Given the description of an element on the screen output the (x, y) to click on. 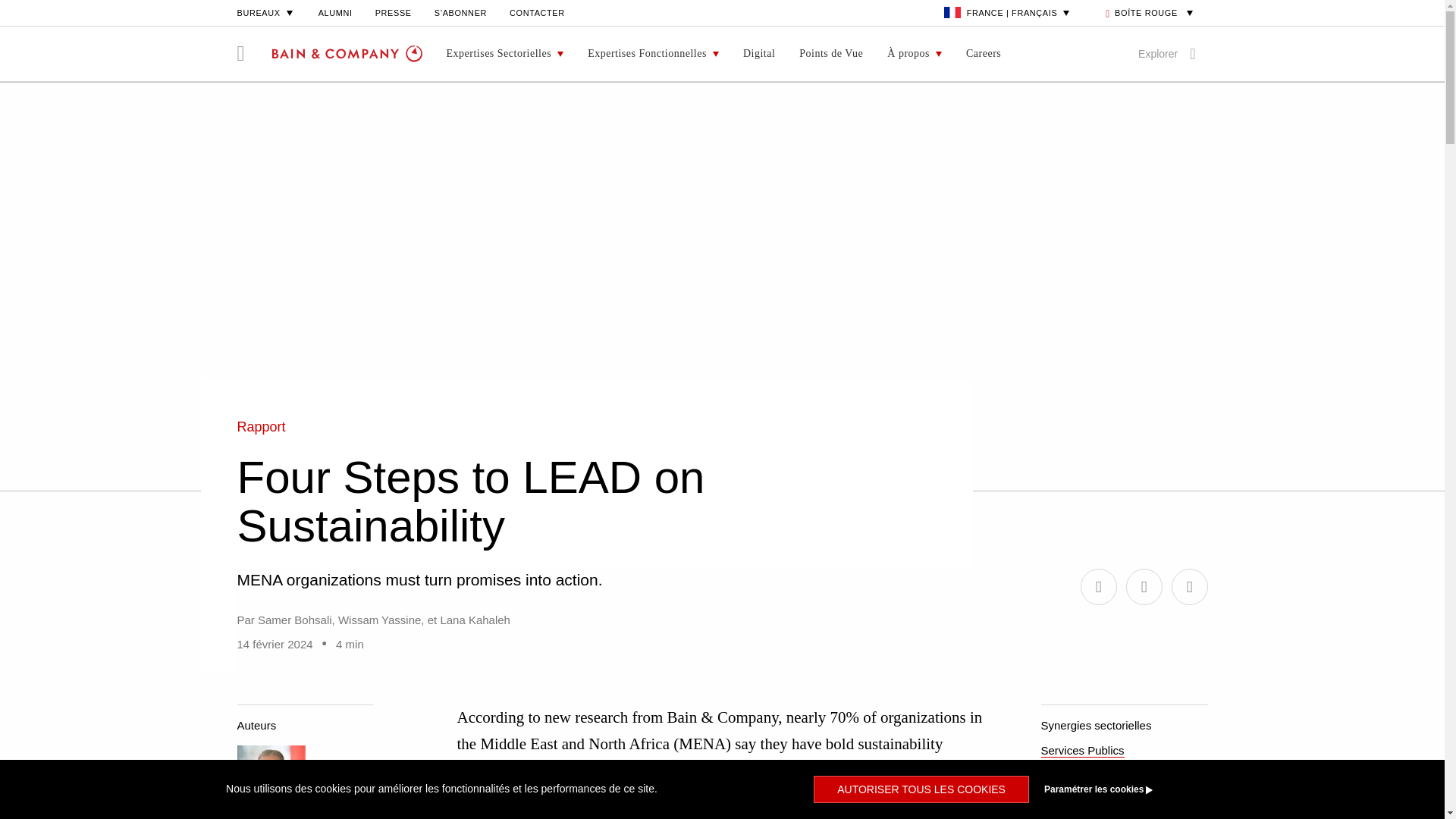
BUREAUX (265, 12)
AUTORISER TOUS LES COOKIES (921, 789)
